Given the description of an element on the screen output the (x, y) to click on. 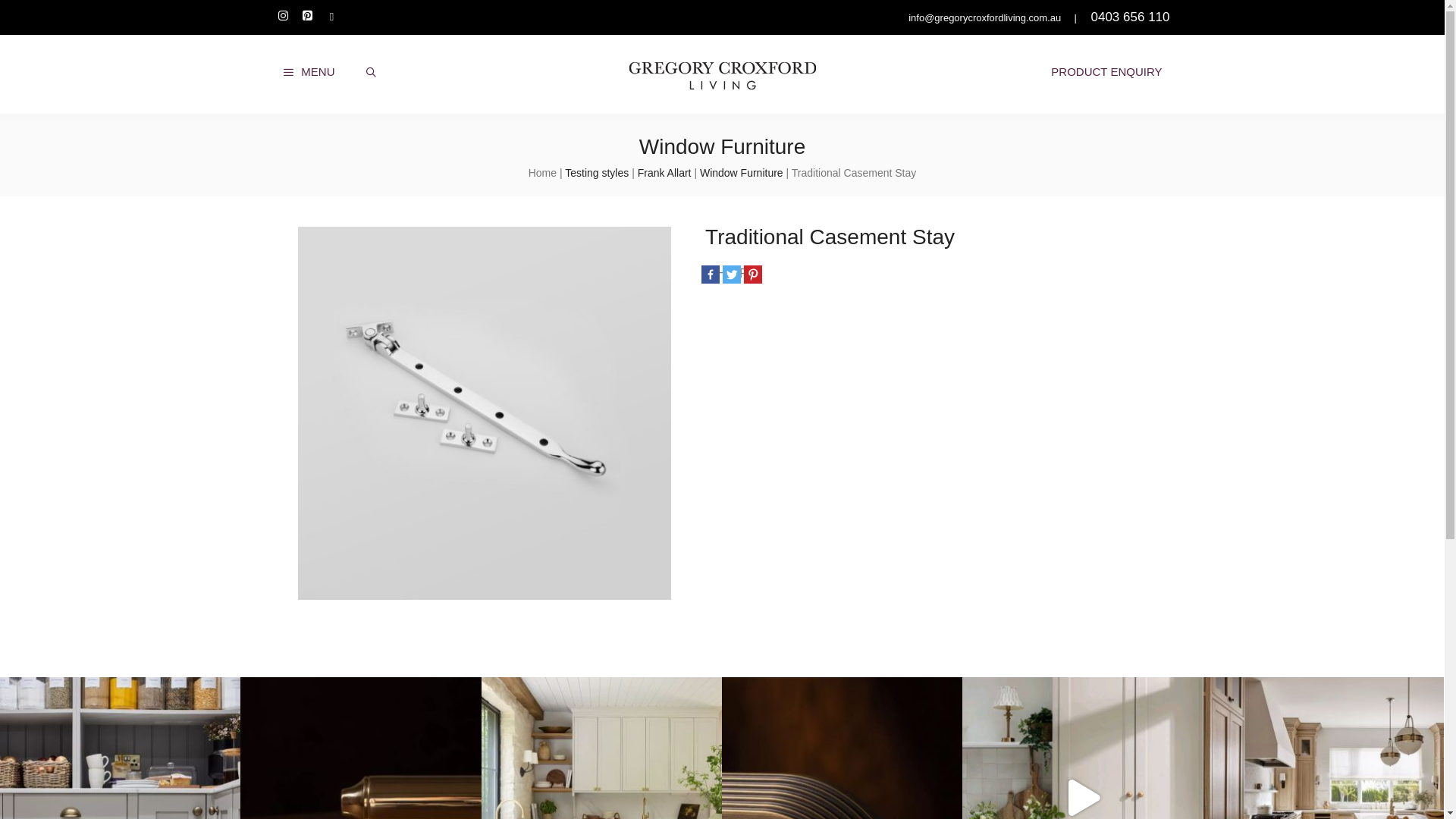
MENU Element type: text (307, 71)
info@gregorycroxfordliving.com.au Element type: text (982, 17)
Testing styles Element type: text (596, 172)
Pinterest Element type: hover (752, 274)
Pinterest Element type: hover (306, 16)
PRODUCT ENQUIRY Element type: text (1105, 71)
Frank Allart Element type: text (664, 172)
Houzz Element type: hover (331, 16)
Facebook Element type: hover (710, 274)
Window Furniture Element type: text (741, 172)
Window Furniture Element type: text (722, 146)
0403 656 110 Element type: text (1129, 16)
Instagram Element type: hover (282, 16)
Twitter Element type: hover (731, 274)
